Given the description of an element on the screen output the (x, y) to click on. 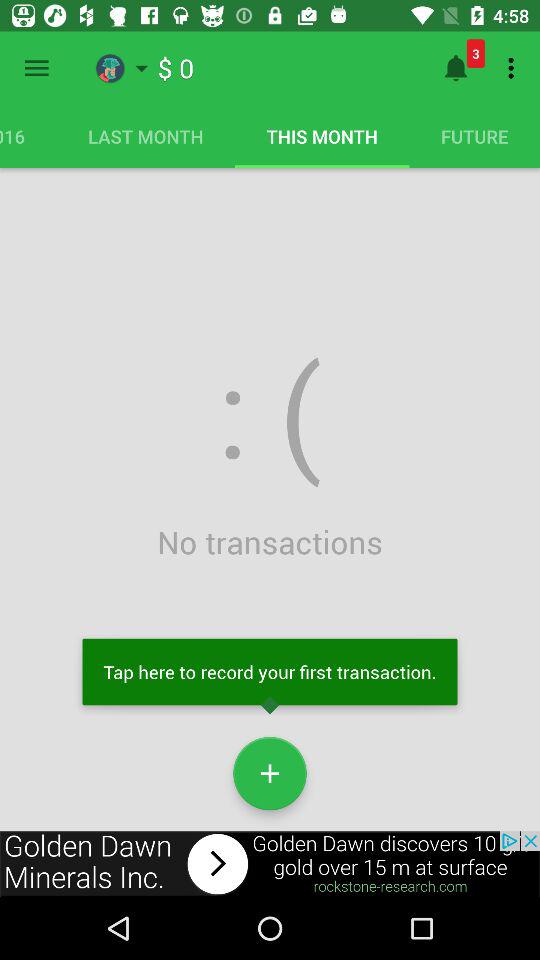
advertisement for outside of app (270, 864)
